Given the description of an element on the screen output the (x, y) to click on. 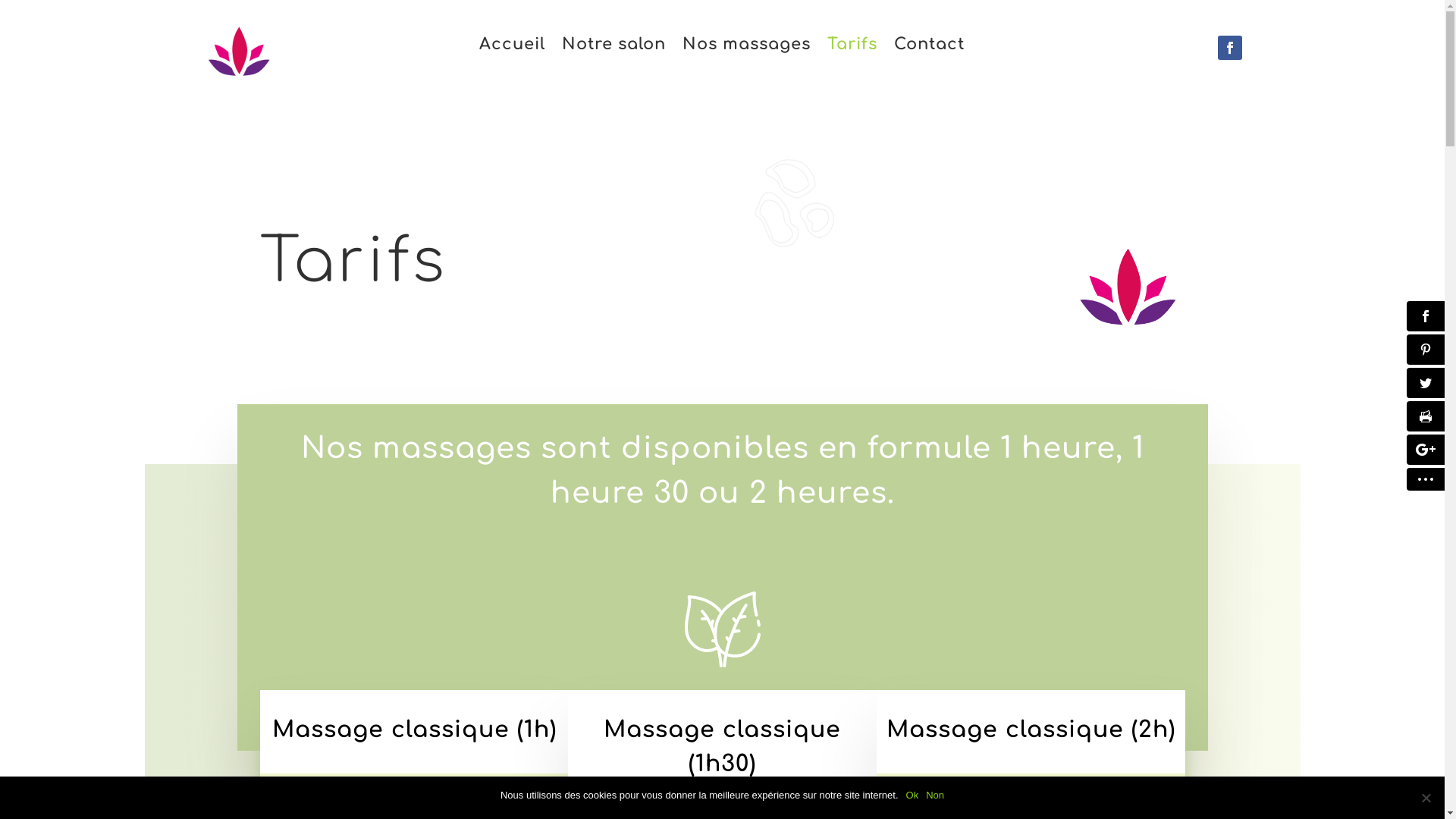
Non Element type: text (934, 795)
Notre salon Element type: text (613, 46)
Ok Element type: text (912, 795)
Non Element type: hover (1425, 797)
Contact Element type: text (929, 46)
Accueil Element type: text (512, 46)
Tarifs Element type: text (852, 46)
Suivez sur Facebook Element type: hover (1229, 47)
Nos massages Element type: text (746, 46)
